Given the description of an element on the screen output the (x, y) to click on. 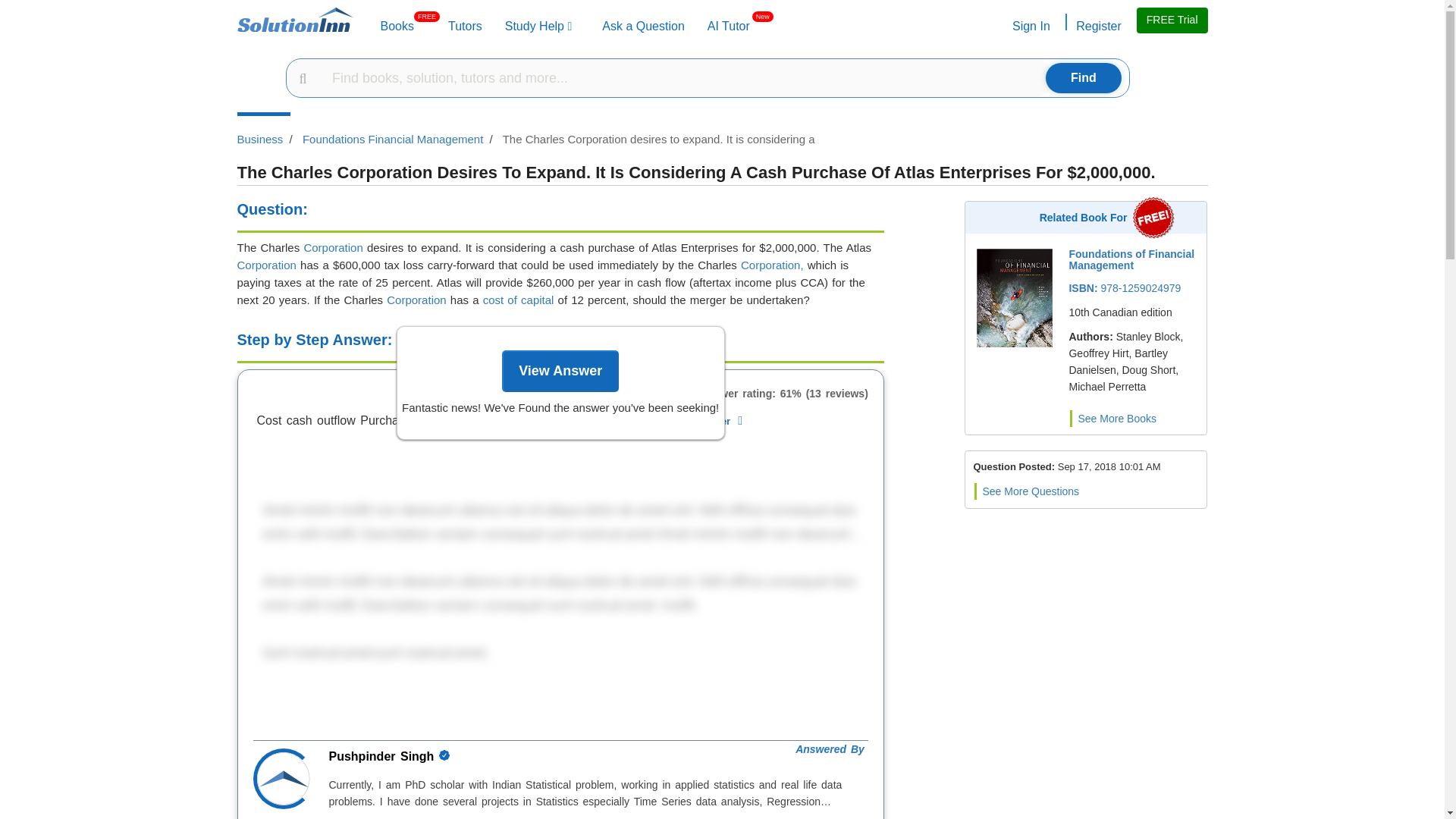
Study Help (538, 26)
Study Help (538, 26)
Tutors (465, 26)
Ask a Question (643, 26)
Sign In (728, 26)
Ask a Question (397, 26)
